Given the description of an element on the screen output the (x, y) to click on. 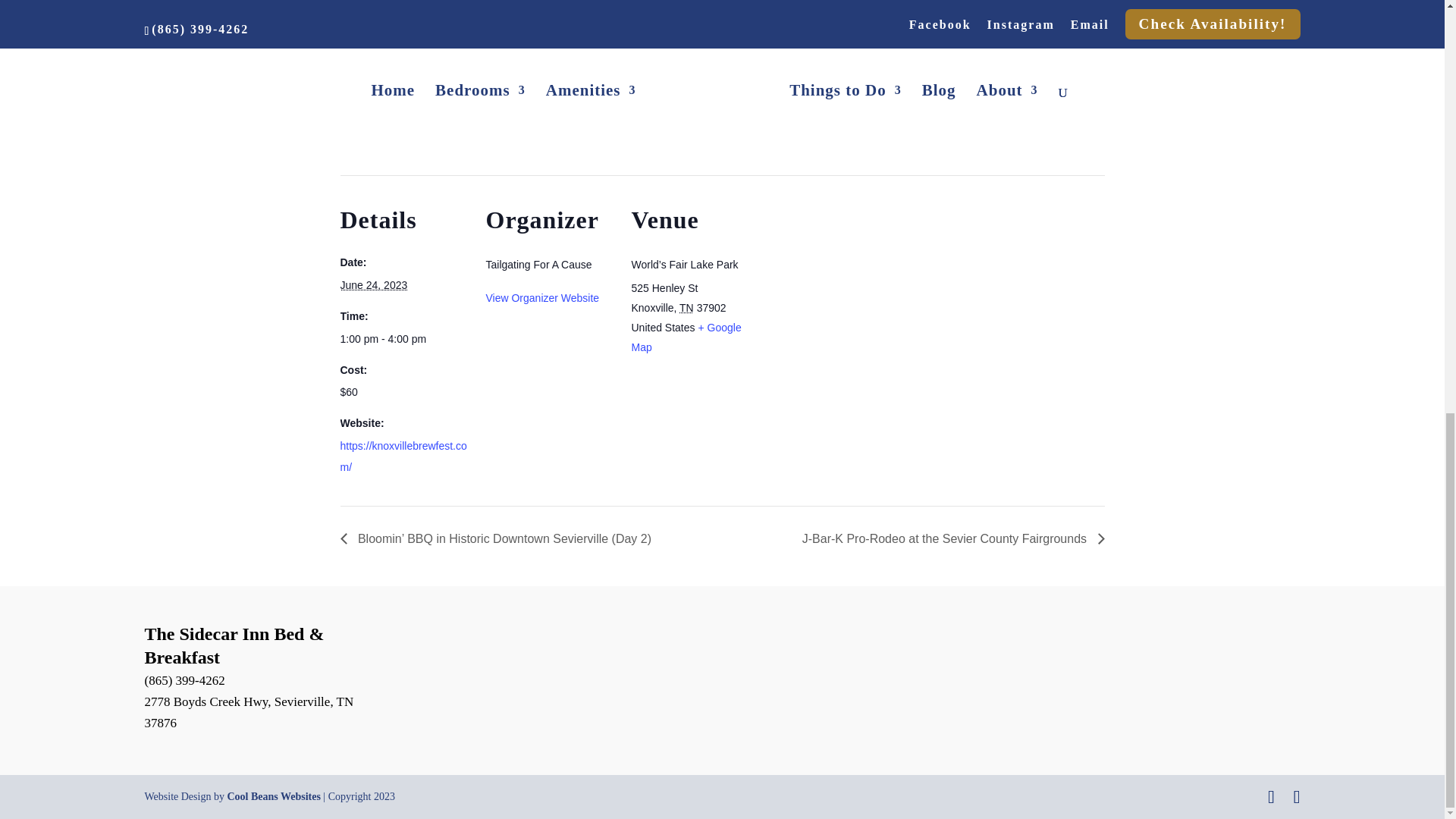
Click to view a Google Map (685, 336)
2023-06-24 (373, 285)
2023-06-24 (403, 338)
Tennessee (686, 307)
